Given the description of an element on the screen output the (x, y) to click on. 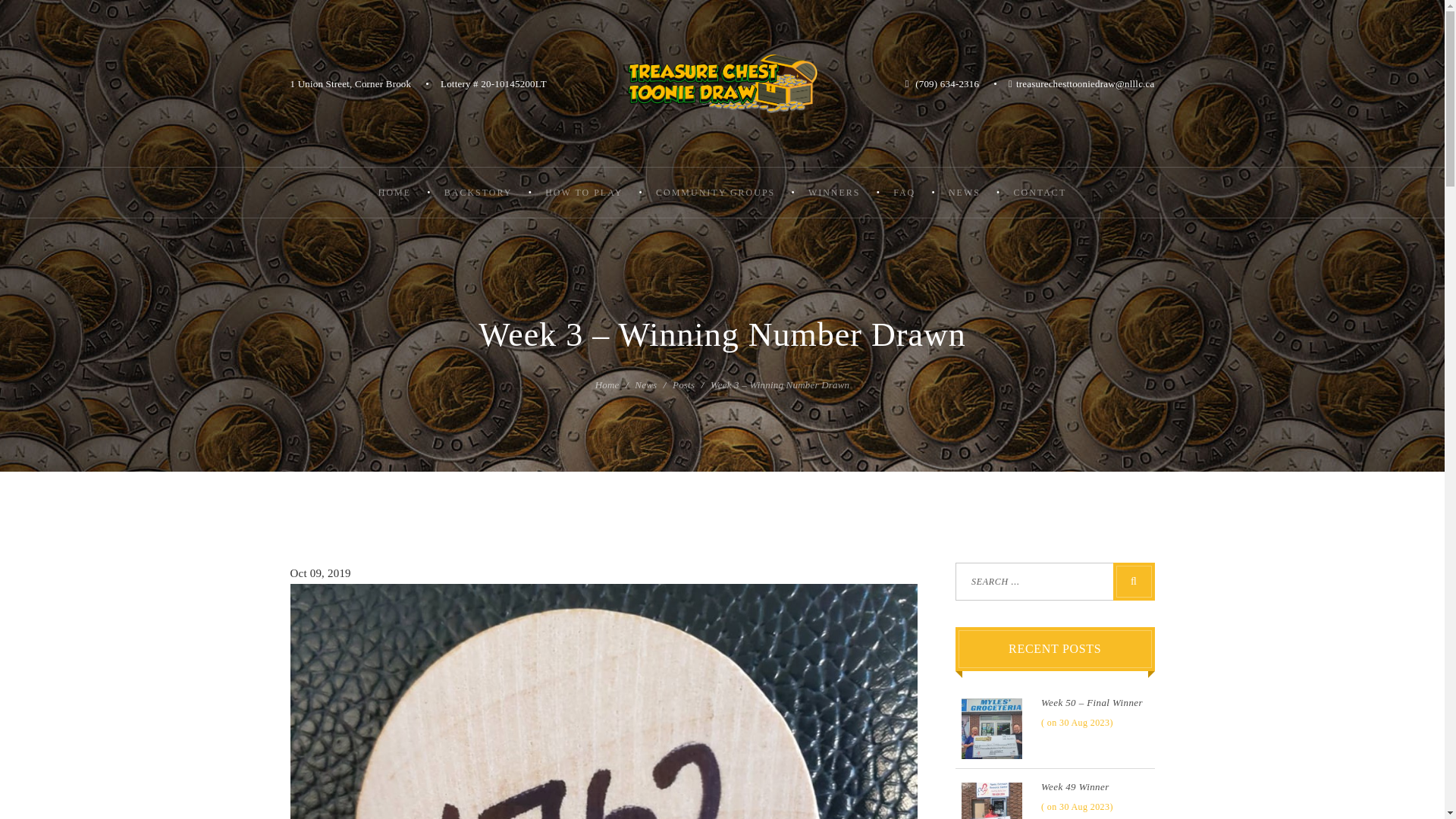
Home (607, 384)
Treasure Chest Toonie Draw (721, 83)
News (645, 384)
BACKSTORY (478, 192)
1 Union Street, Corner Brook (349, 83)
CONTACT (1039, 192)
Treasure Chest Toonie Draw (721, 83)
WINNERS (834, 192)
HOME (394, 192)
HOW TO PLAY (583, 192)
